Given the description of an element on the screen output the (x, y) to click on. 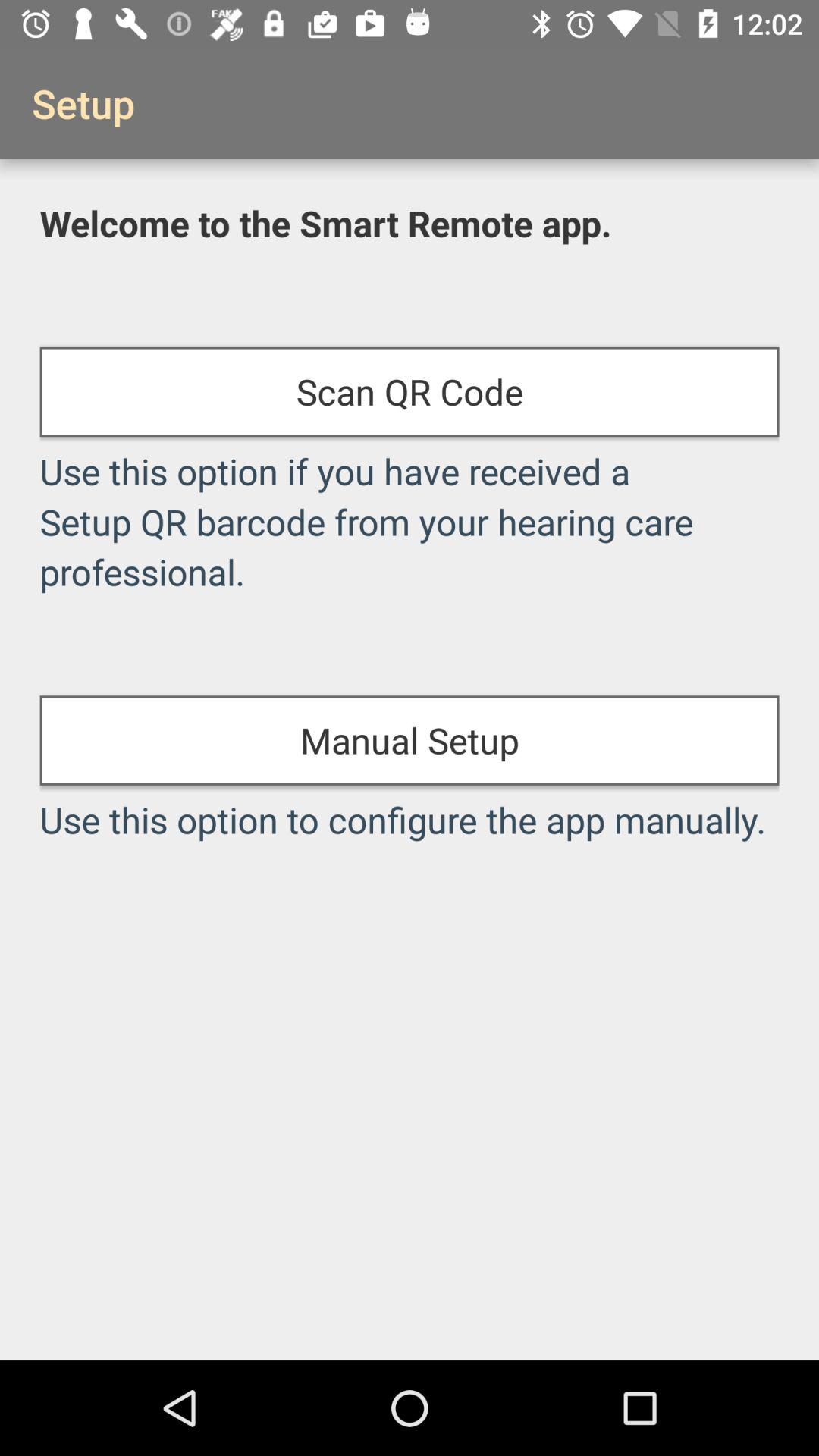
launch item above use this option item (409, 740)
